Given the description of an element on the screen output the (x, y) to click on. 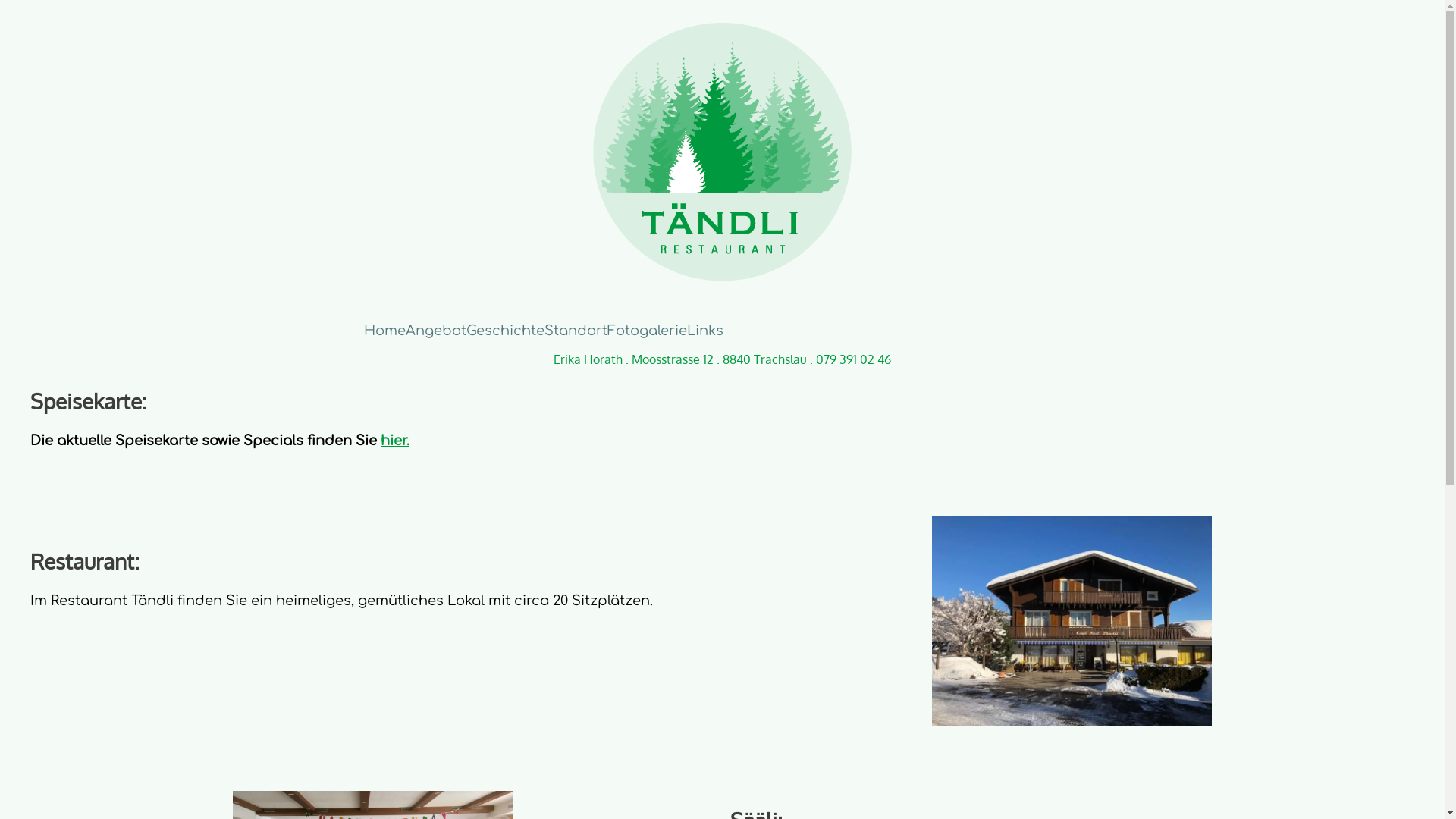
Fotogalerie Element type: text (646, 331)
Geschichte Element type: text (504, 331)
Links Element type: text (705, 331)
Standort Element type: text (575, 331)
Home Element type: text (384, 331)
Angebot Element type: text (434, 331)
hier. Element type: text (394, 440)
